Given the description of an element on the screen output the (x, y) to click on. 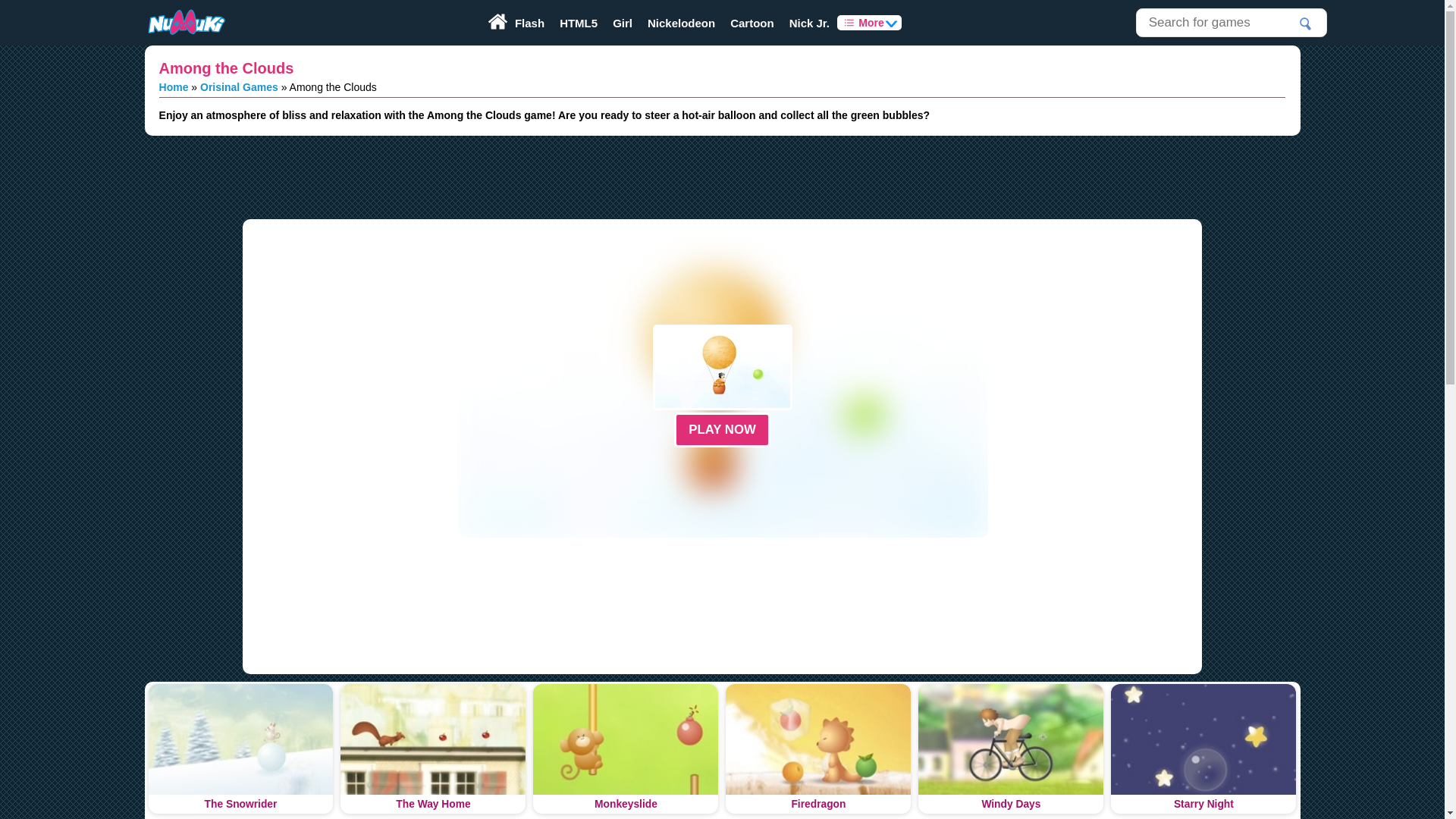
HTML5 Games (578, 22)
Nick Jr. (809, 22)
Play Fun Browser Games (185, 22)
Nickelodeon (681, 22)
Cartoon (751, 22)
More (869, 22)
HTML5 (578, 22)
Flash Games (528, 22)
Girl (622, 22)
